Given the description of an element on the screen output the (x, y) to click on. 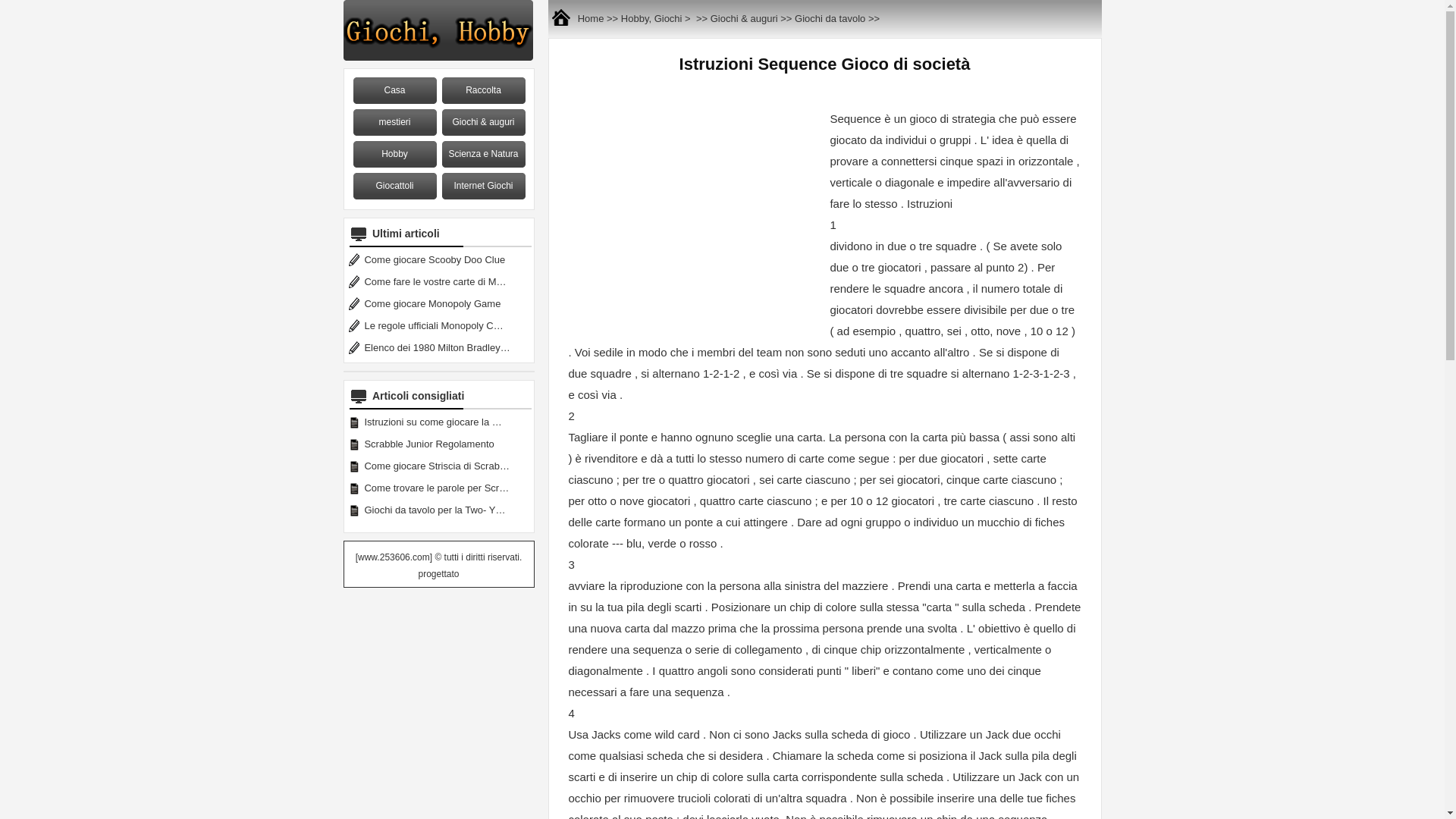
Scrabble Junior Regolamento  Element type: text (430, 445)
Hobby Element type: text (394, 154)
Raccolta Element type: text (482, 90)
Come giocare Scooby Doo Clue  Element type: text (435, 261)
Giochi da tavolo Element type: text (829, 13)
Giochi & auguri Element type: text (744, 13)
Giocattoli Element type: text (394, 185)
mestieri Element type: text (394, 122)
Come giocare Monopoly Game  Element type: text (433, 305)
Hobby, Giochi Element type: text (651, 13)
Scienza e Natura Element type: text (482, 154)
Internet Giochi Element type: text (482, 185)
Casa Element type: text (394, 90)
Giochi & auguri Element type: text (482, 122)
